Given the description of an element on the screen output the (x, y) to click on. 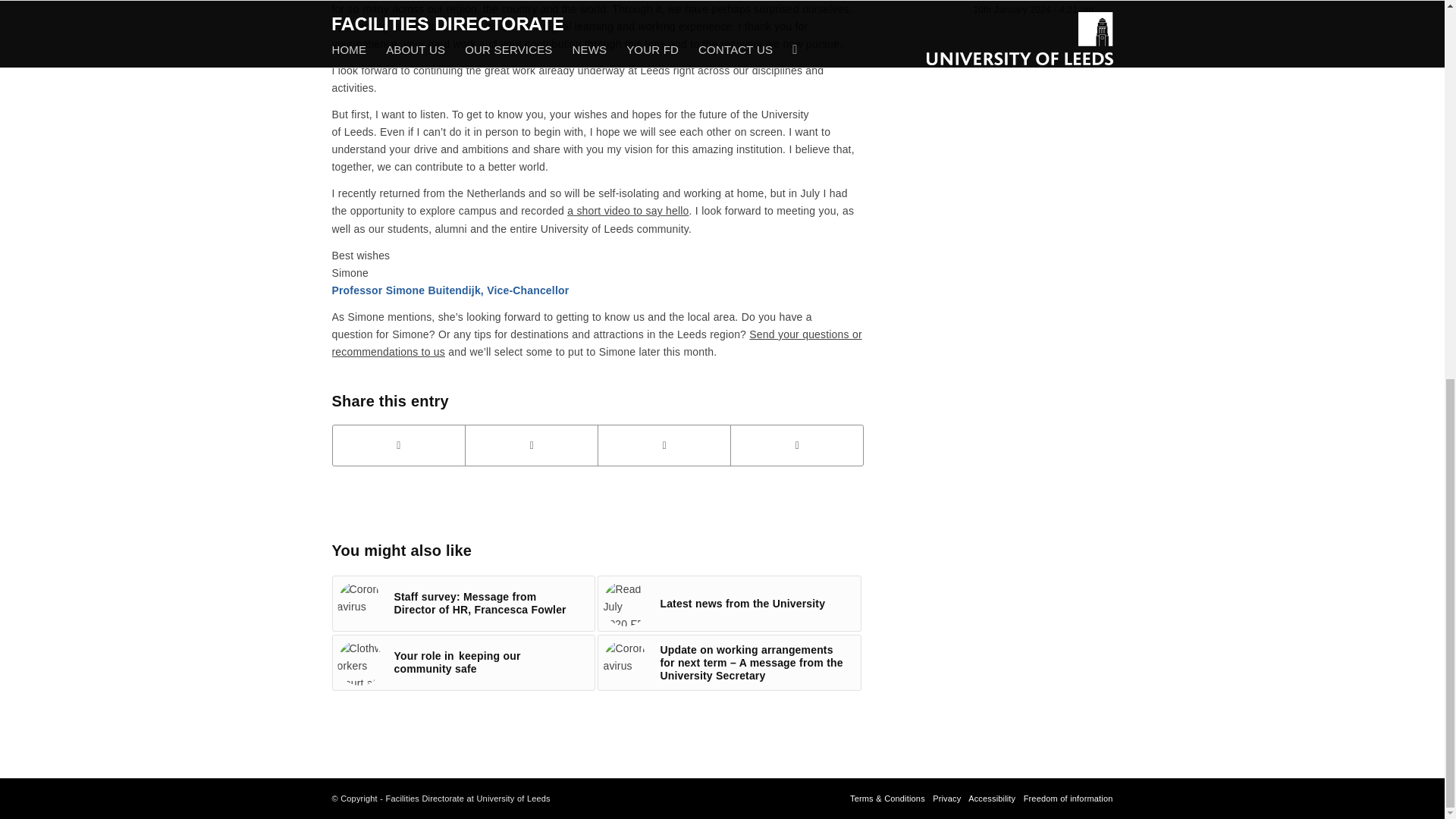
Latest news from the University (728, 603)
Staff survey: Message from Director of HR, Francesca Fowler (463, 603)
Clothworkers Court at the University of Leeds (358, 662)
a short video to say hello (627, 210)
Latest news from the University (728, 603)
Coronavirus (358, 603)
Send your questions or recommendations to us (596, 342)
Staff survey: Message from Director of HR, Francesca Fowler (463, 603)
